Given the description of an element on the screen output the (x, y) to click on. 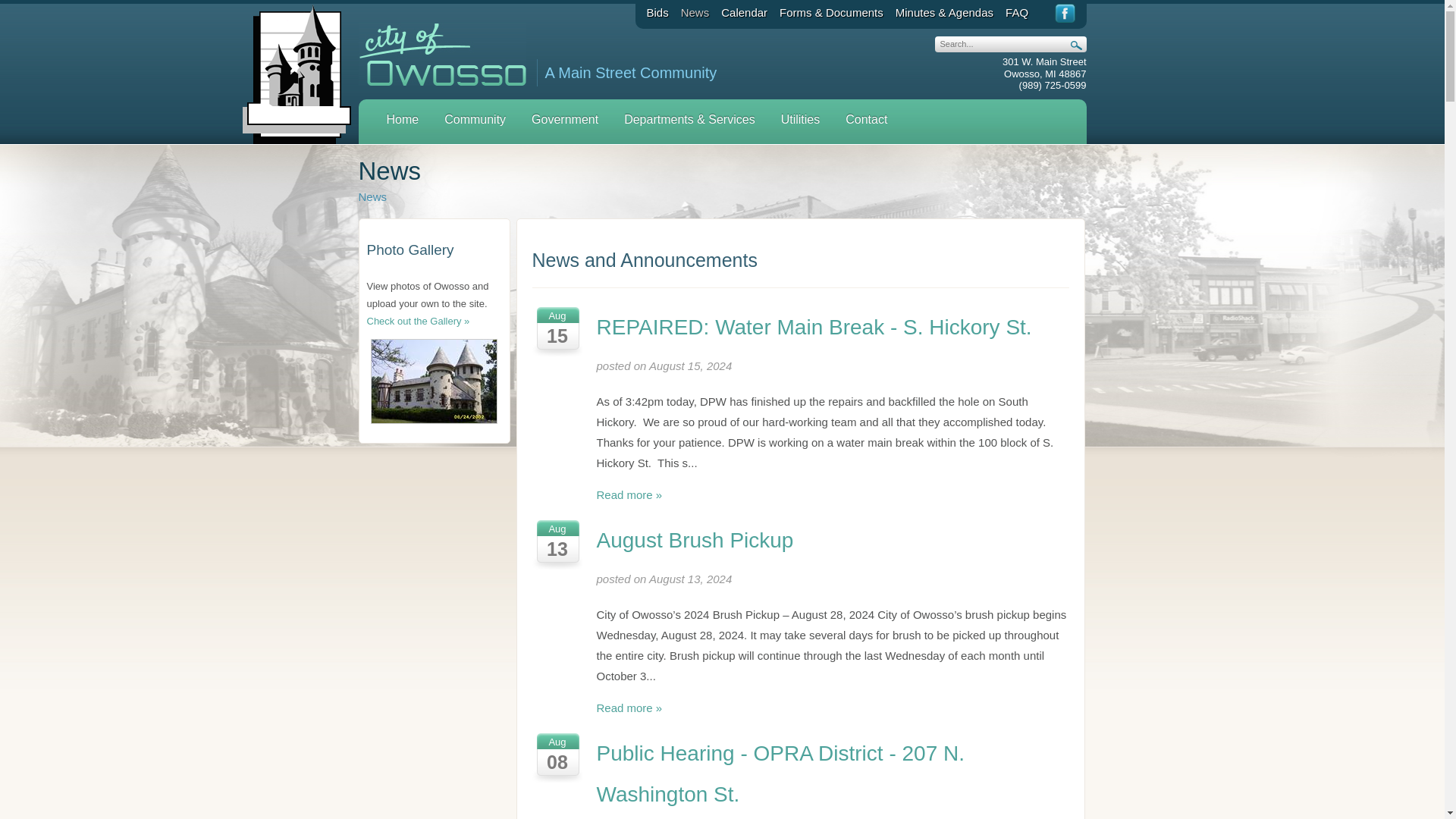
Government (564, 120)
Community (474, 120)
News (695, 11)
Home (401, 120)
FAQ (1016, 11)
Bids (657, 11)
Calendar (743, 11)
